Given the description of an element on the screen output the (x, y) to click on. 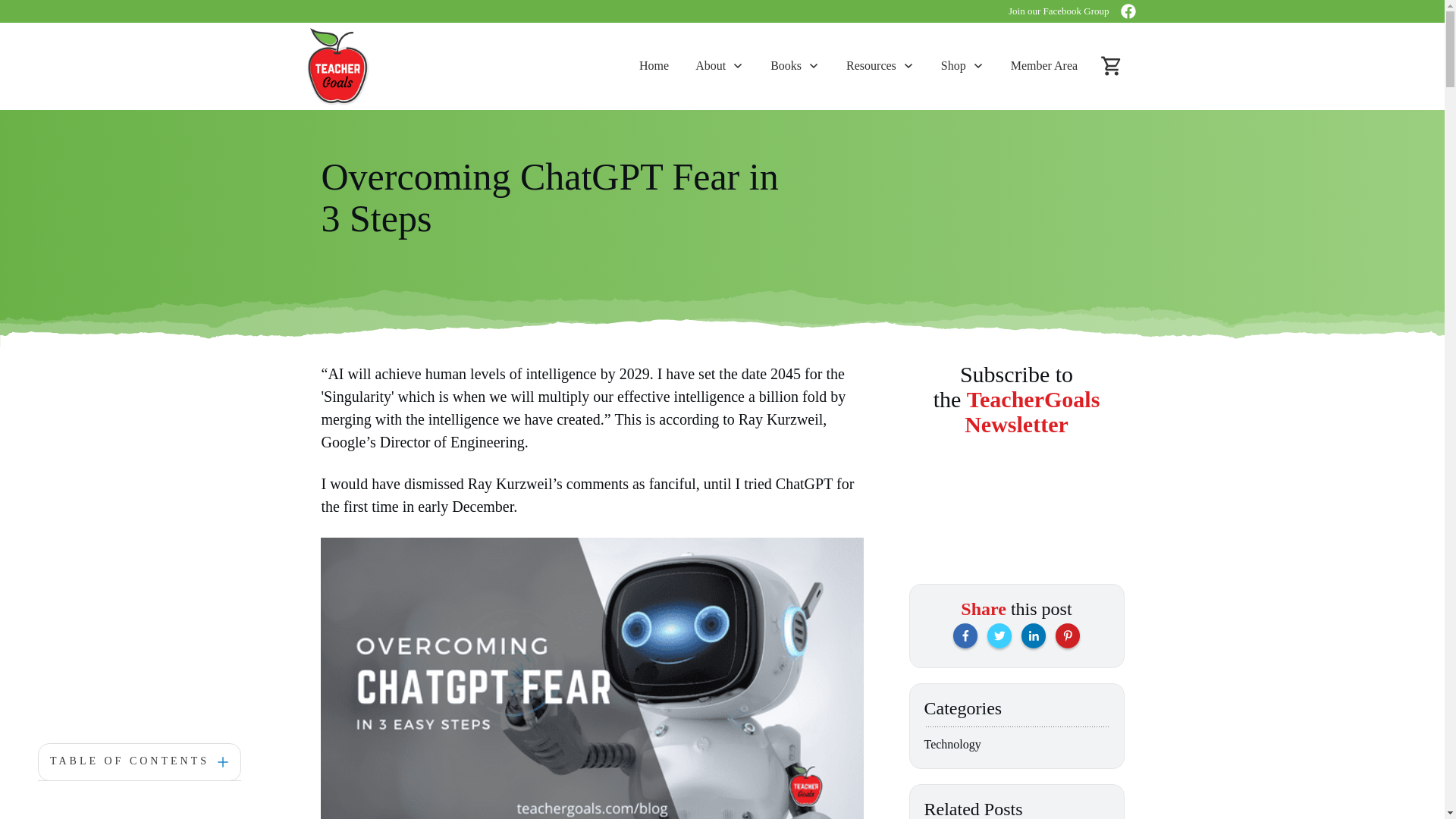
Home (653, 65)
Technology (951, 744)
About (719, 65)
TeacherGoals Simple Optin Form (1016, 504)
Overcoming ChatGPT Fear in 3 Steps (549, 197)
Member Area (1043, 65)
Shop (962, 65)
Resources (879, 65)
Books (794, 65)
